Given the description of an element on the screen output the (x, y) to click on. 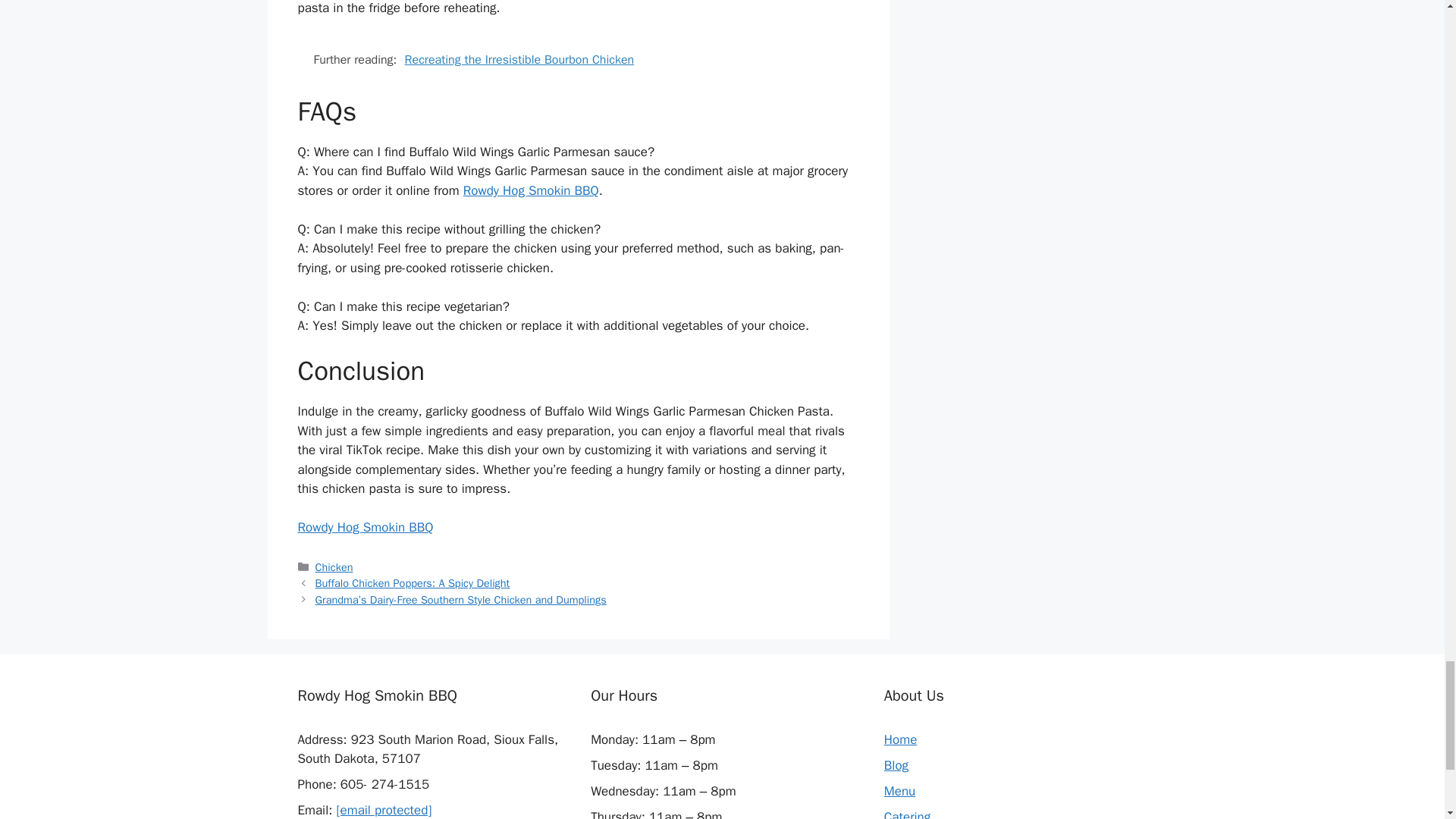
Rowdy Hog Smokin BBQ (530, 190)
Home (900, 739)
Buffalo Chicken Poppers: A Spicy Delight (413, 582)
Chicken (334, 567)
Rowdy Hog Smokin BBQ (364, 527)
Blog (895, 765)
